Given the description of an element on the screen output the (x, y) to click on. 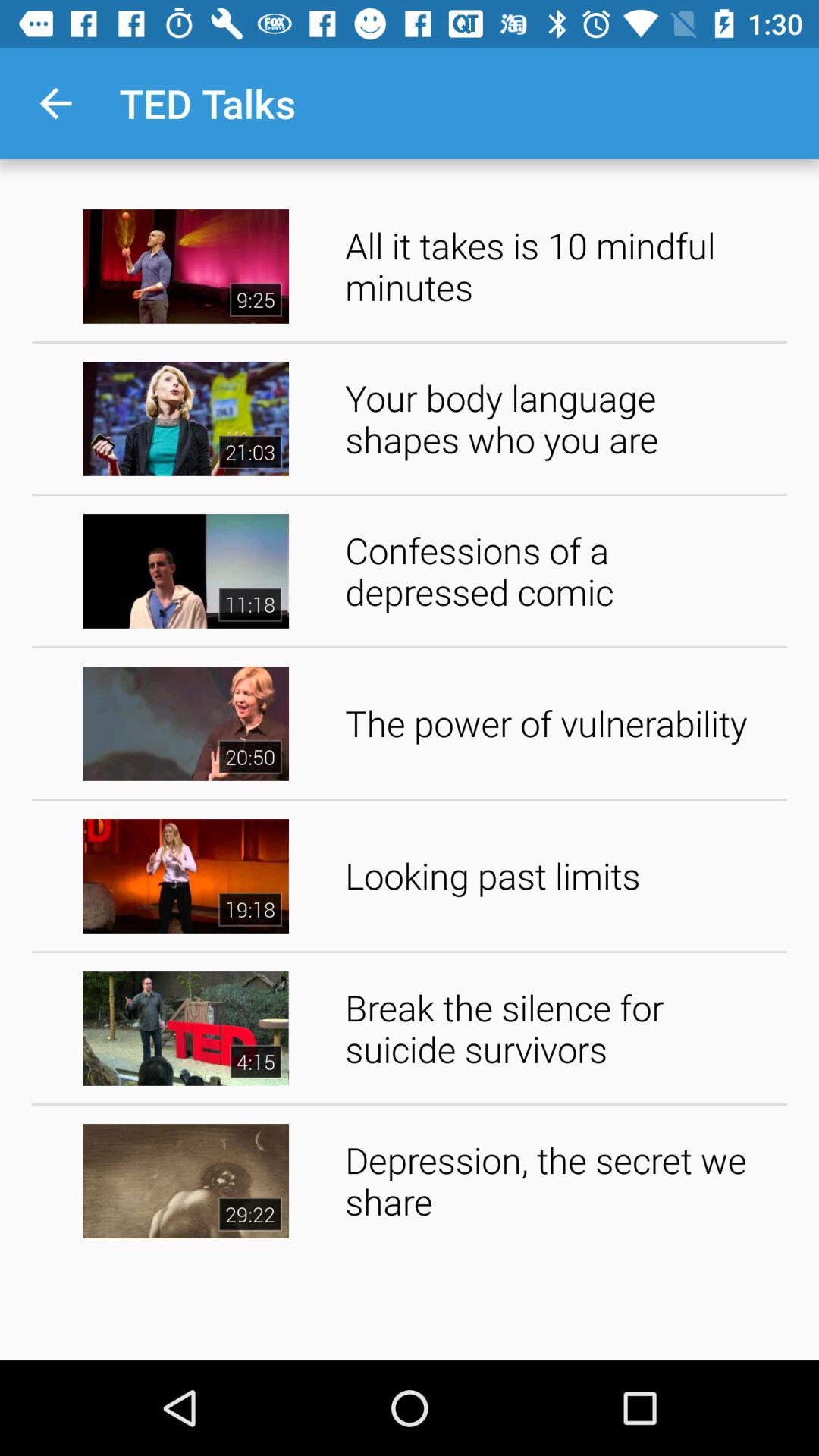
select the image which is left side of the break the silence for suicide survivors (185, 1028)
click on the fifth image from top (185, 875)
click on the video left to the power of vulnerability (185, 724)
click on video left to depression the secret we share (185, 1181)
click on video left to all it takes is 10 mindful minutes (185, 266)
